Given the description of an element on the screen output the (x, y) to click on. 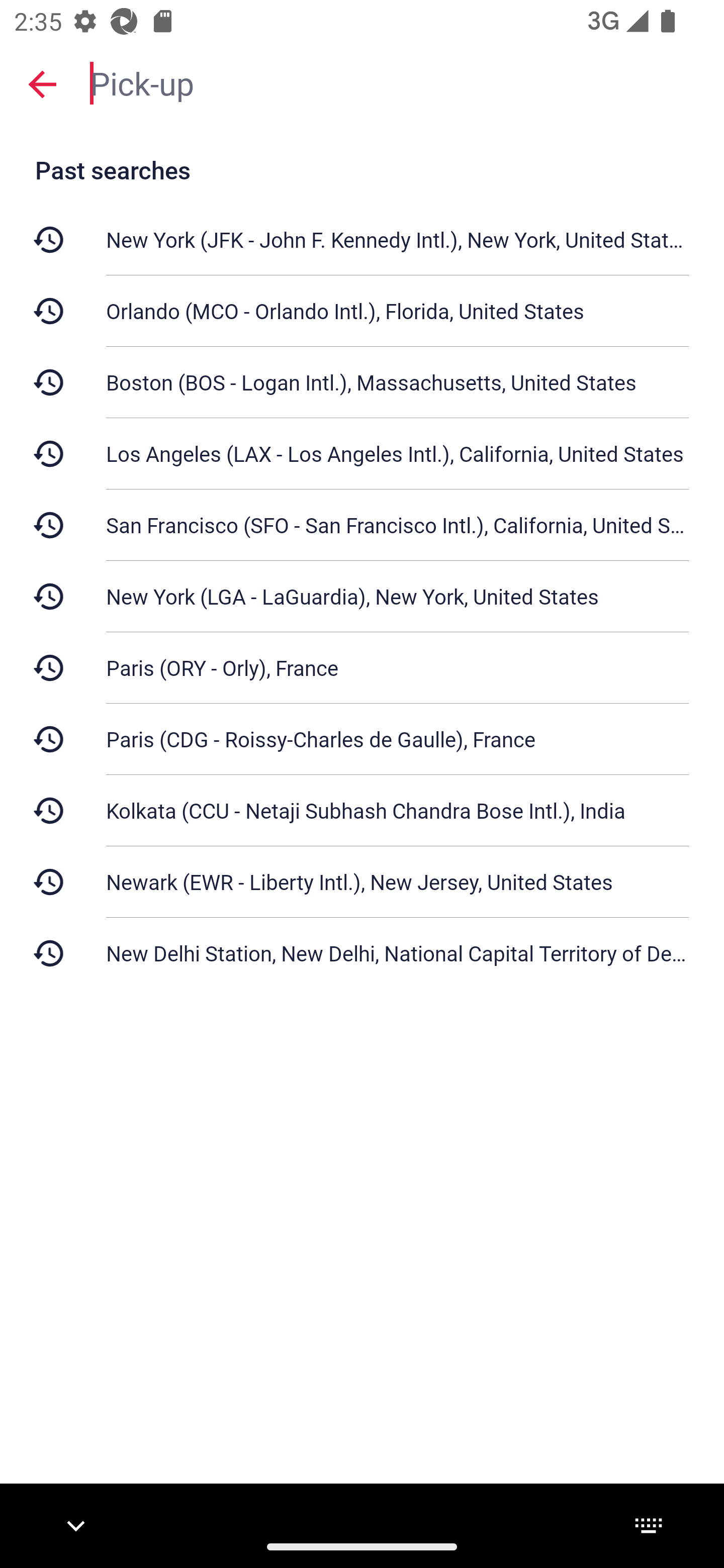
Pick-up,  (397, 82)
Close search screen (41, 83)
